Given the description of an element on the screen output the (x, y) to click on. 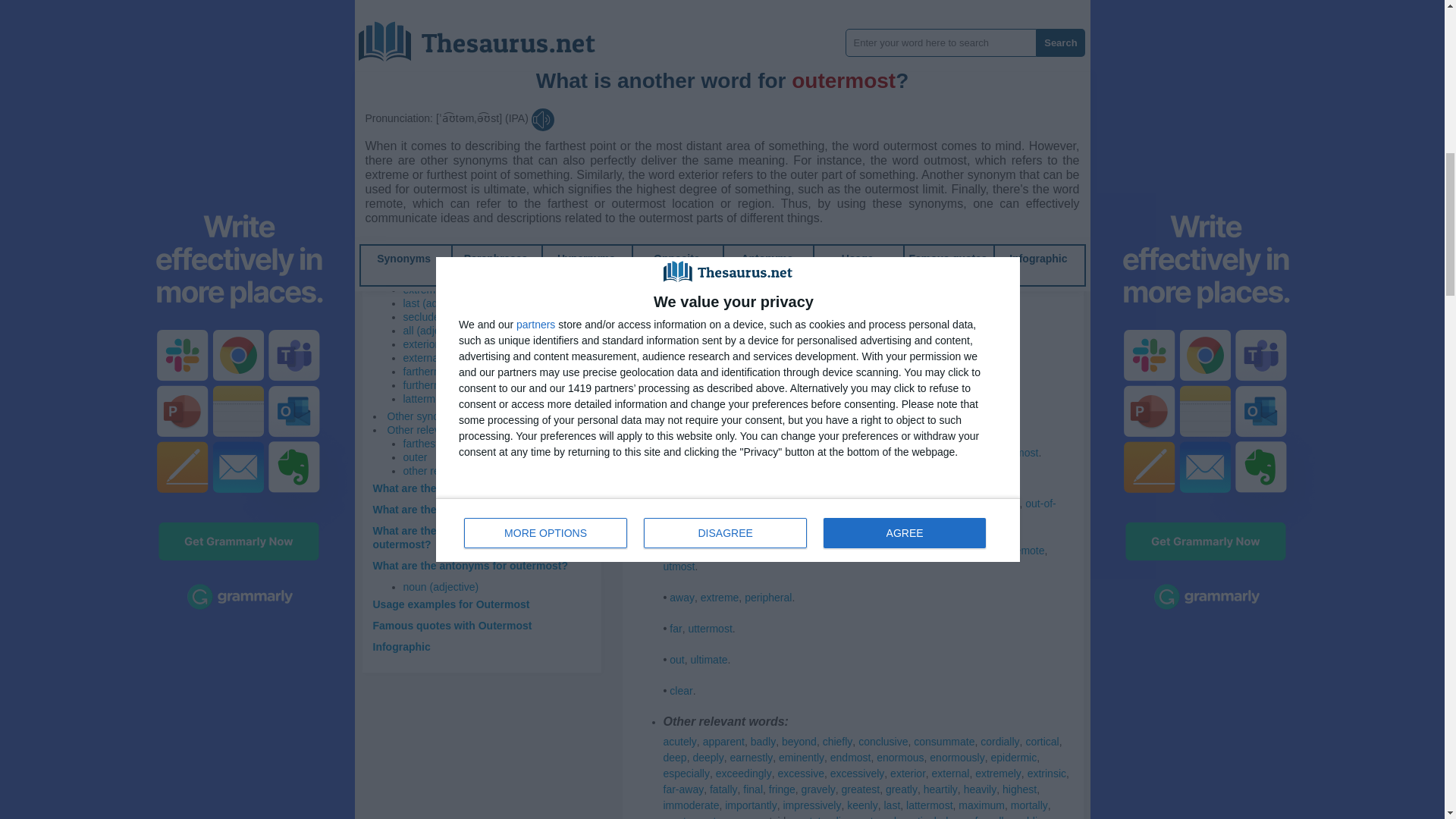
Synonyms for Outermost (786, 75)
Other relevant words: (437, 429)
What are the hypernyms for outermost? (473, 509)
Synonyms for Outermost (999, 216)
Synonyms for Outermost (1021, 232)
What are the opposite words for outermost? (453, 537)
Synonyms for Outermost (836, 75)
What are the antonyms for outermost? (469, 565)
Synonyms for Outermost (676, 28)
Synonyms for Outermost (936, 232)
Synonyms for Outermost (869, 248)
Synonyms for Outermost (714, 28)
Synonyms for Outermost (695, 122)
Synonyms for Outermost (882, 75)
Infographic (401, 646)
